Given the description of an element on the screen output the (x, y) to click on. 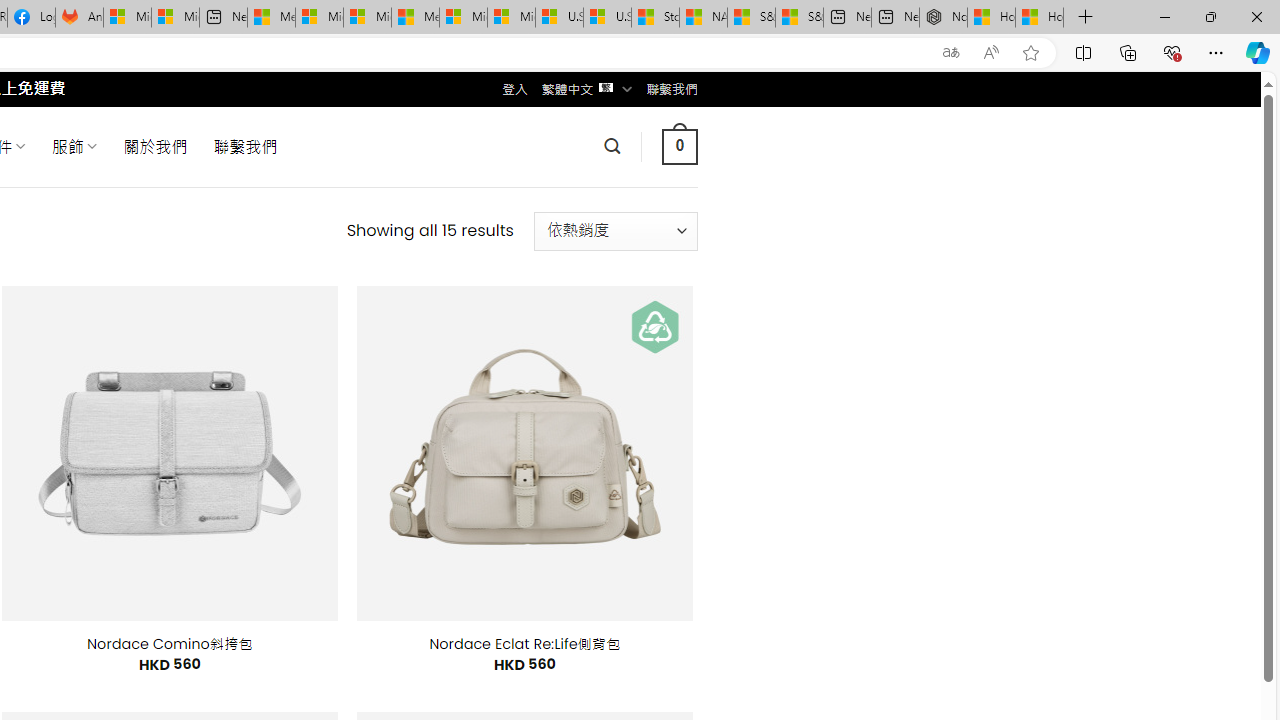
S&P 500, Nasdaq end lower, weighed by Nvidia dip | Watch (799, 17)
How to Use a Monitor With Your Closed Laptop (1039, 17)
